Given the description of an element on the screen output the (x, y) to click on. 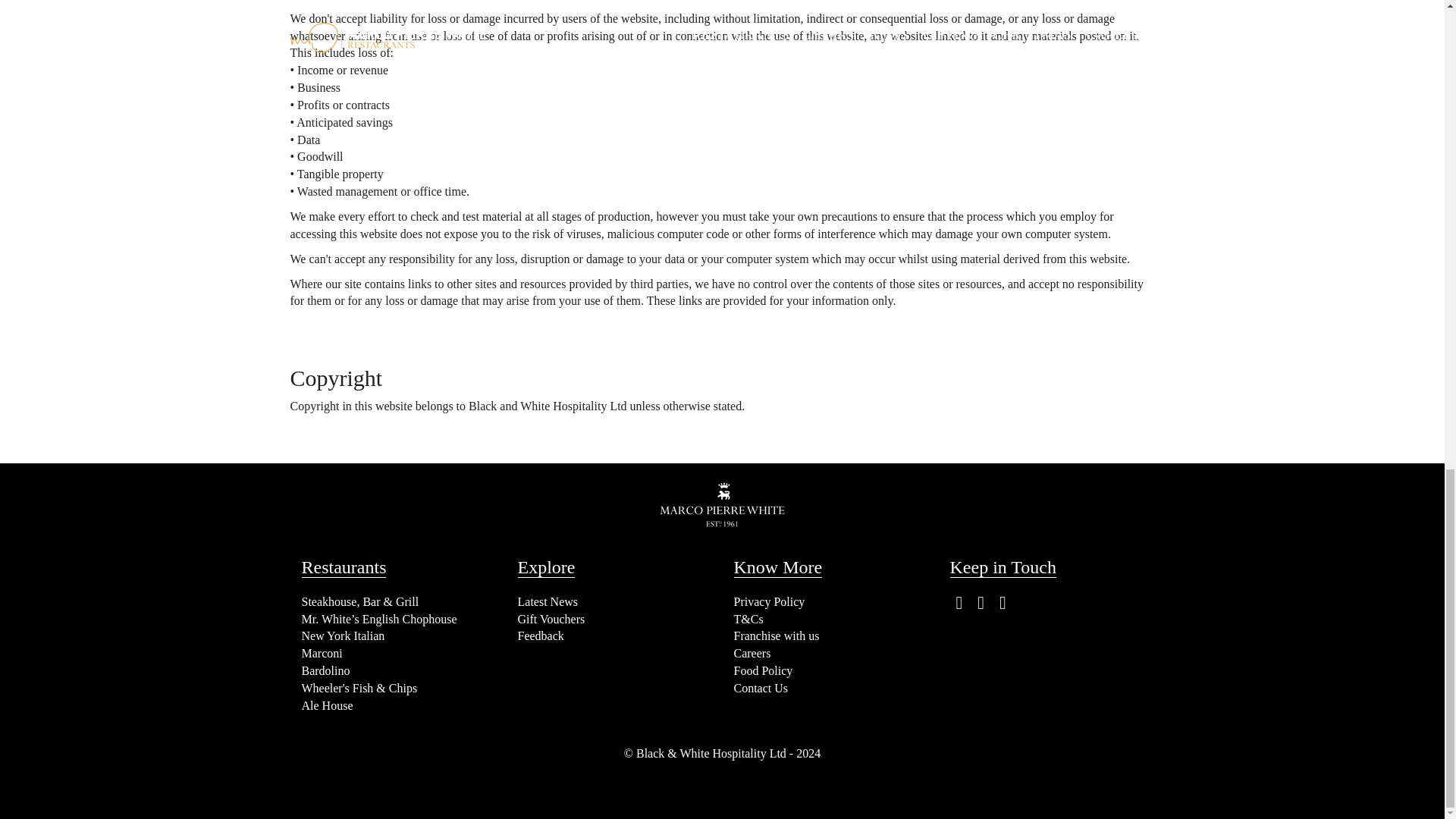
Privacy Policy (769, 601)
Marconi (321, 653)
Food Policy (763, 670)
Latest News (547, 601)
New York Italian (343, 635)
Feedback (539, 635)
Ale House (327, 705)
Bardolino (325, 670)
Gift Vouchers (550, 618)
Careers (752, 653)
Franchise with us (776, 635)
